Given the description of an element on the screen output the (x, y) to click on. 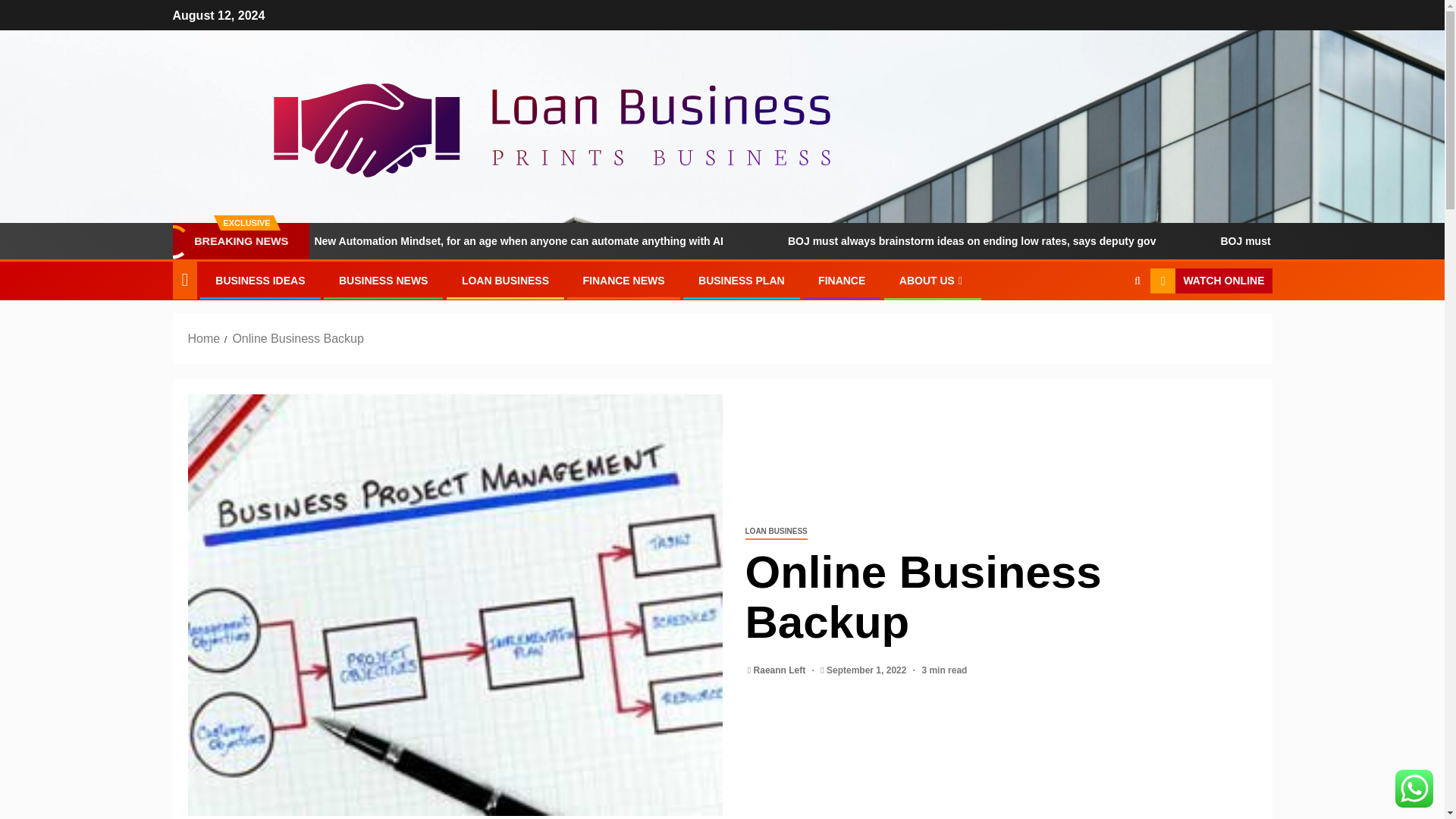
BUSINESS IDEAS (259, 280)
Home (204, 338)
Online Business Backup (296, 338)
Raeann Left (781, 670)
FINANCE NEWS (622, 280)
ABOUT US (932, 280)
BUSINESS NEWS (383, 280)
FINANCE (841, 280)
